Given the description of an element on the screen output the (x, y) to click on. 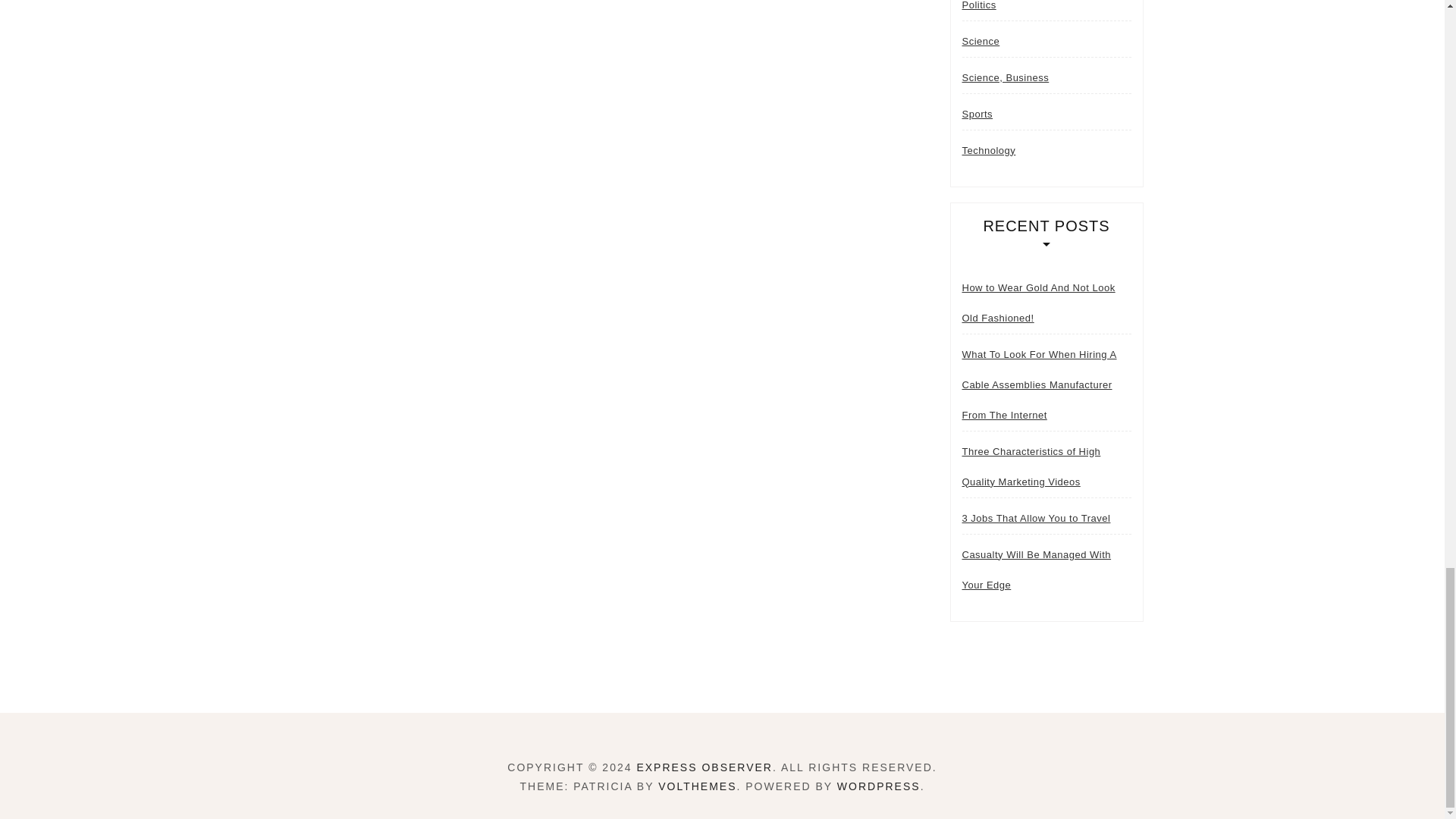
VolThemes (697, 786)
Express Observer (704, 766)
WordPress (878, 786)
